Given the description of an element on the screen output the (x, y) to click on. 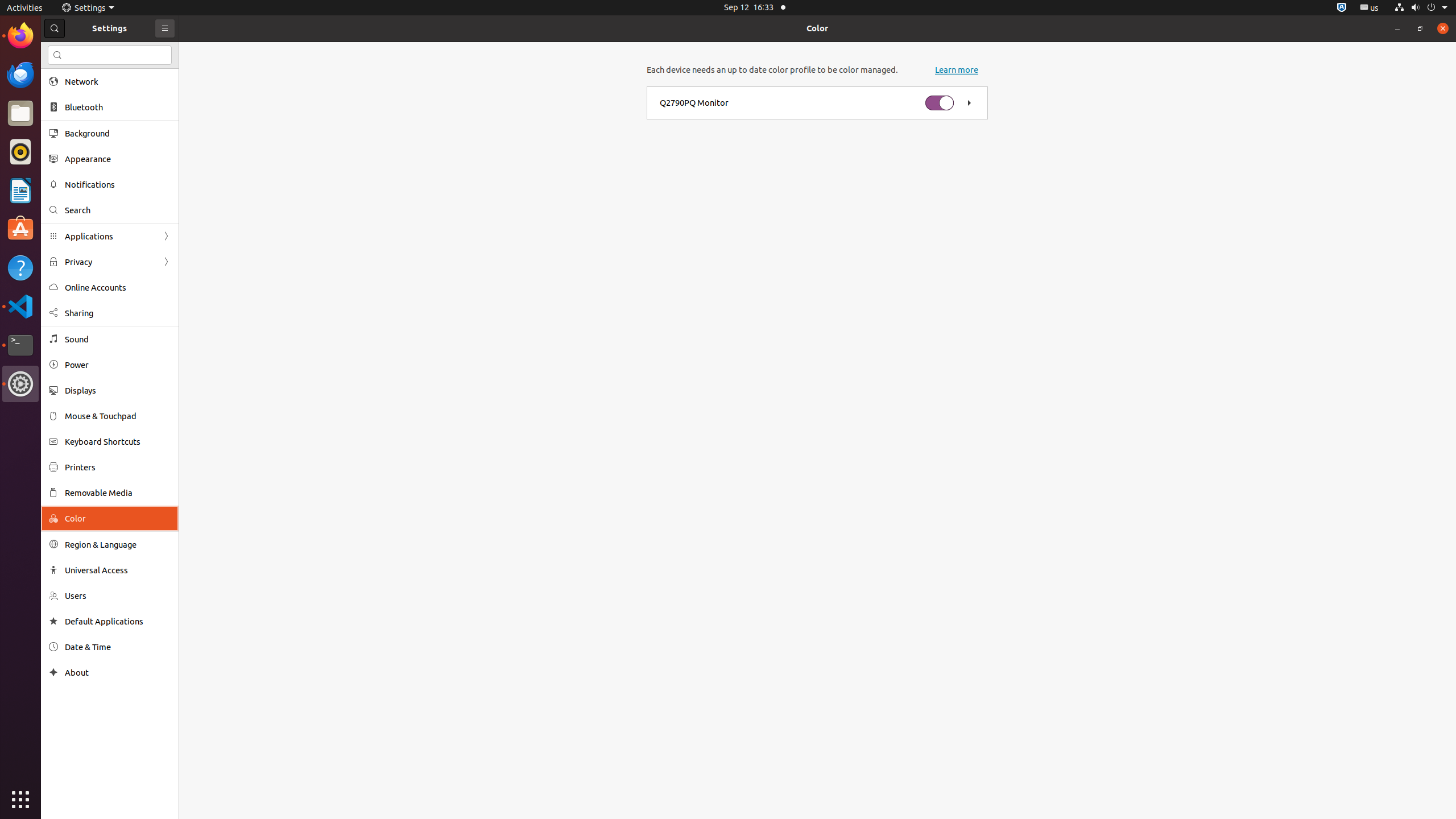
Settings Element type: push-button (20, 383)
Universal Access Element type: label (117, 570)
Forward Element type: icon (165, 261)
Power Element type: label (117, 364)
